Given the description of an element on the screen output the (x, y) to click on. 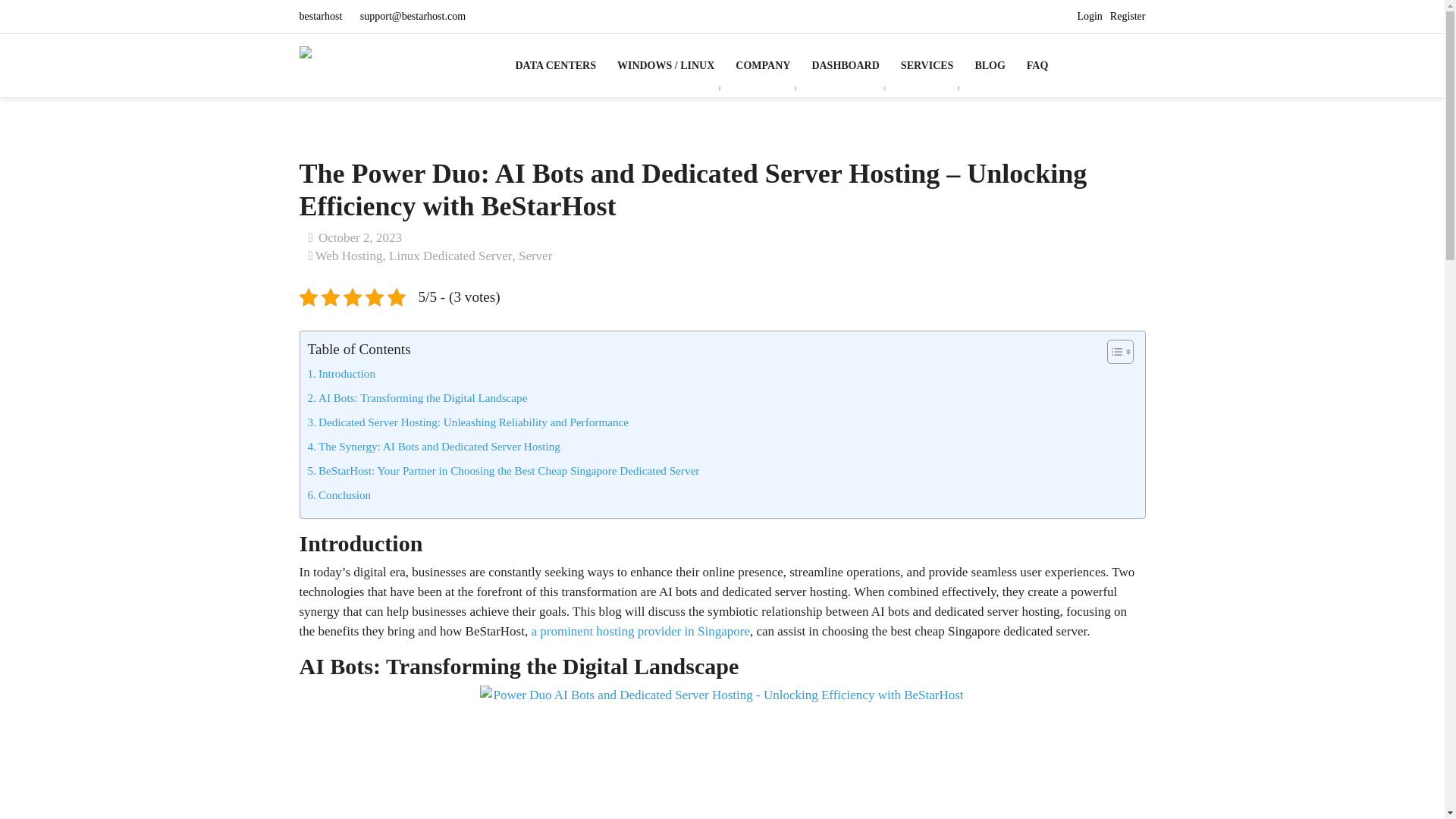
COMPANY (762, 65)
Introduction (341, 373)
Register (1127, 16)
DATA CENTERS (561, 65)
The Synergy: AI Bots and Dedicated Server Hosting (433, 446)
Login (1089, 16)
Linux Dedicated Server (450, 255)
Server (534, 255)
BLOG (988, 65)
SERVICES (926, 65)
bestarhost (320, 16)
Conclusion (339, 495)
AI Bots: Transforming the Digital Landscape (417, 398)
Web Hosting (348, 255)
